Given the description of an element on the screen output the (x, y) to click on. 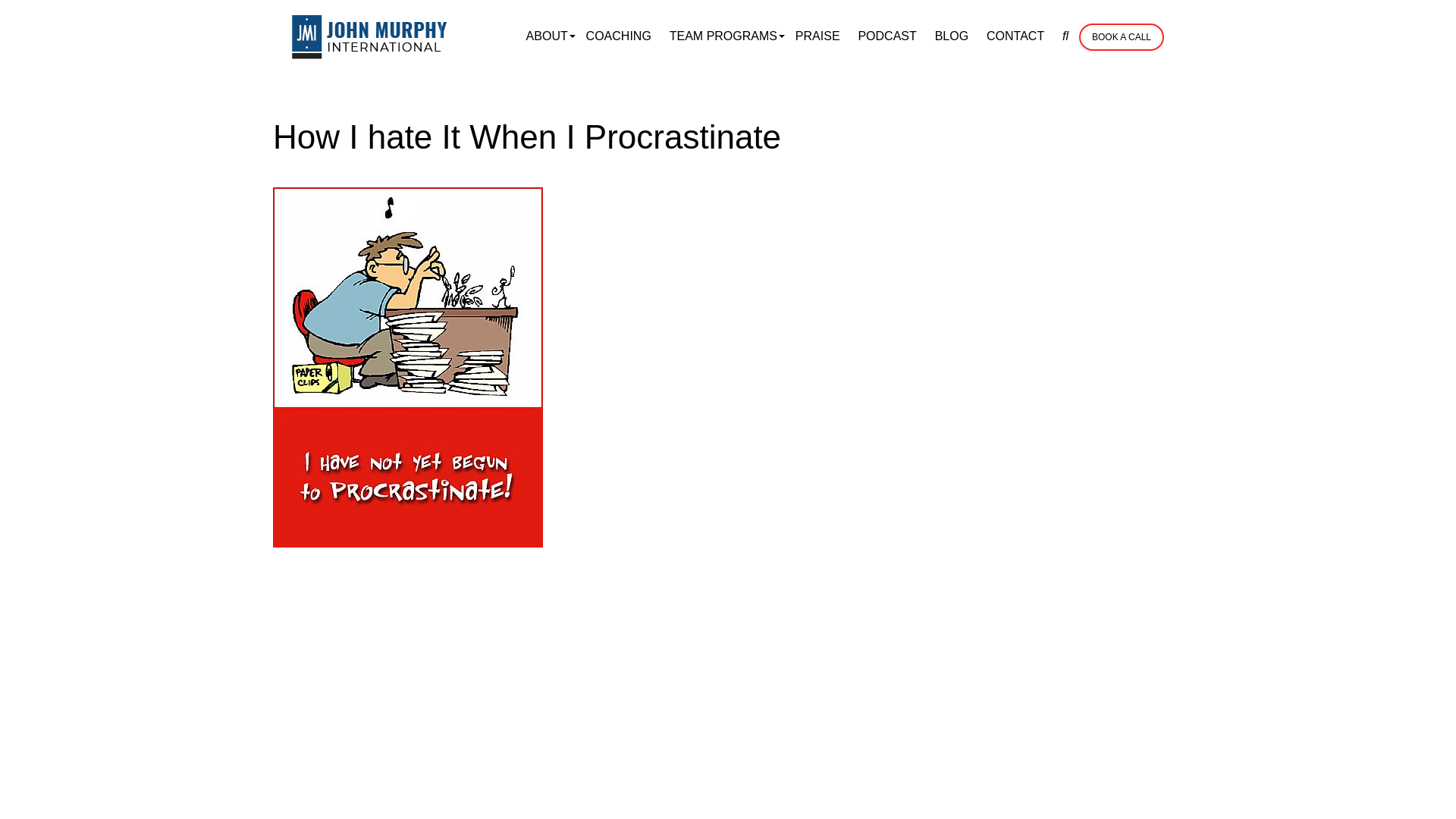
PODCAST (886, 35)
CONTACT (1014, 35)
Business Executive Coaching (370, 36)
COACHING (618, 35)
TEAM PROGRAMS (723, 35)
PRAISE (817, 35)
BLOG (951, 35)
BOOK A CALL (1120, 36)
ABOUT (546, 35)
